Given the description of an element on the screen output the (x, y) to click on. 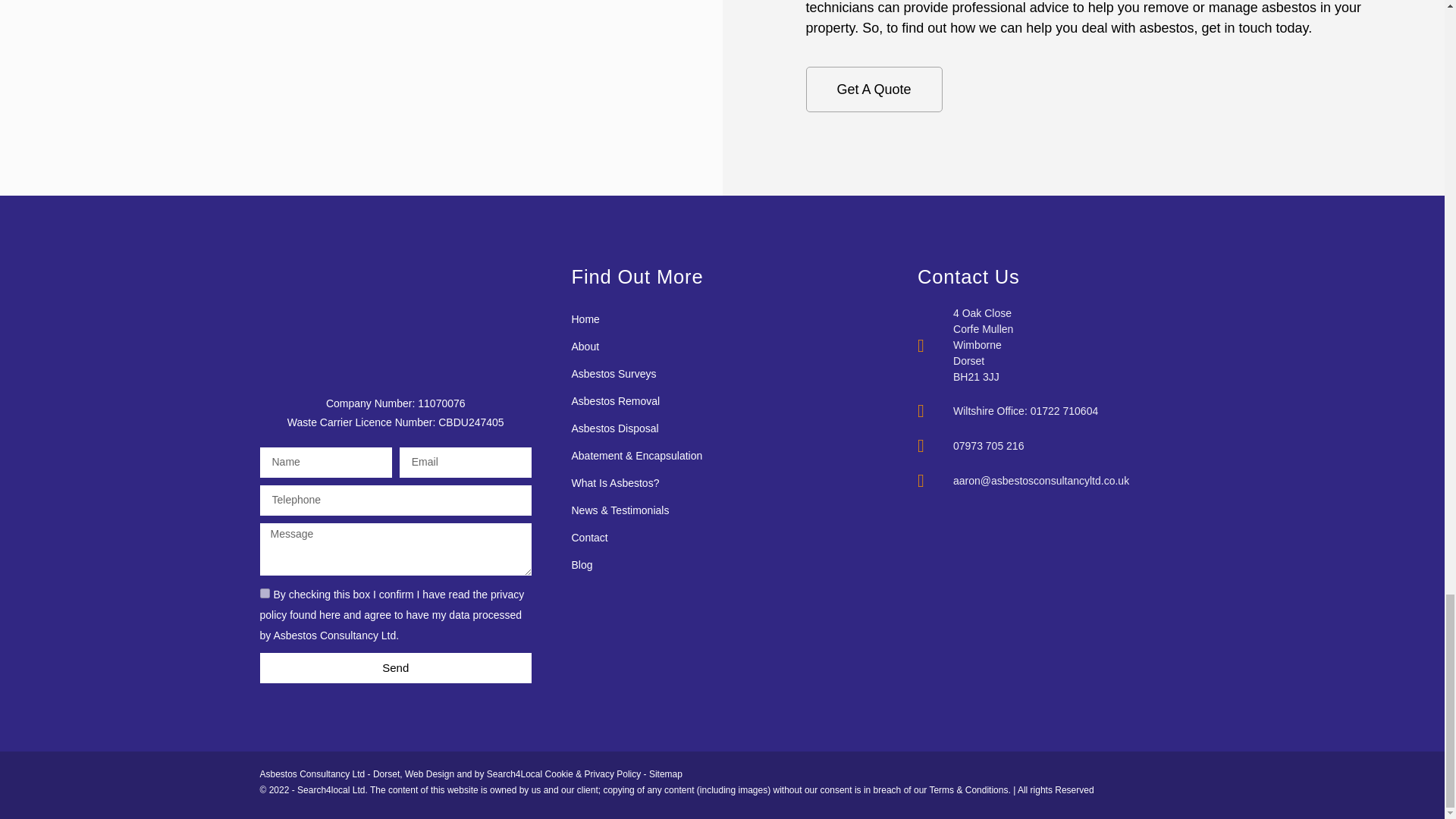
Asbestos Removal (710, 400)
Company Number: 11070076 (395, 403)
Home (710, 318)
Asbestos Disposal (710, 428)
Waste Carrier Licence Number: CBDU247405 (394, 422)
Asbestos Surveys (710, 373)
Get A Quote (873, 89)
Send (395, 667)
About (710, 346)
here (329, 614)
on (264, 593)
